Given the description of an element on the screen output the (x, y) to click on. 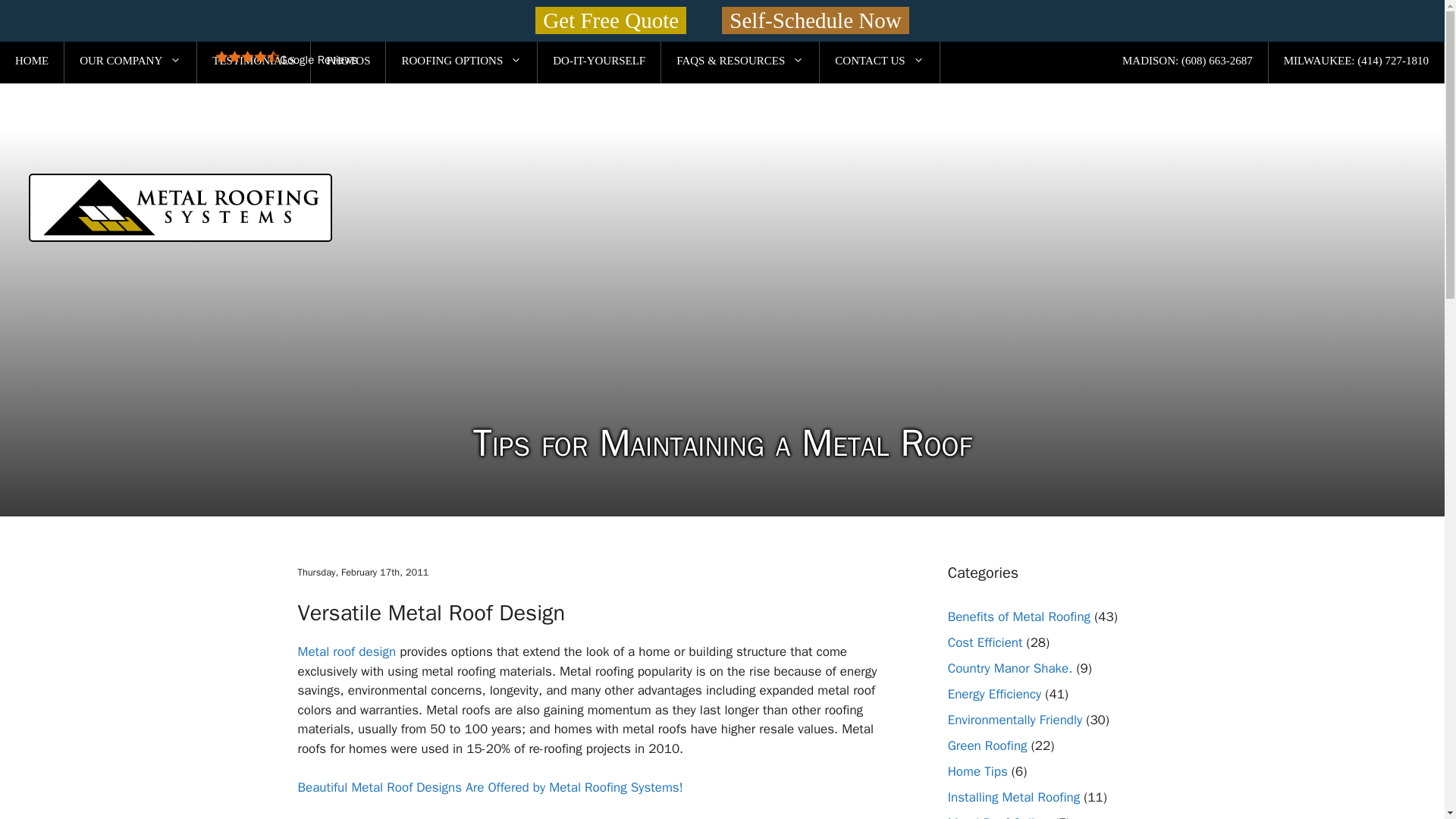
ROOFING OPTIONS (461, 60)
HOME (32, 60)
Get Free Quote (610, 20)
OUR COMPANY (130, 60)
DO-IT-YOURSELF (599, 60)
TESTIMONIALS (253, 60)
PHOTOS (348, 60)
Self-Schedule Now (815, 20)
